Given the description of an element on the screen output the (x, y) to click on. 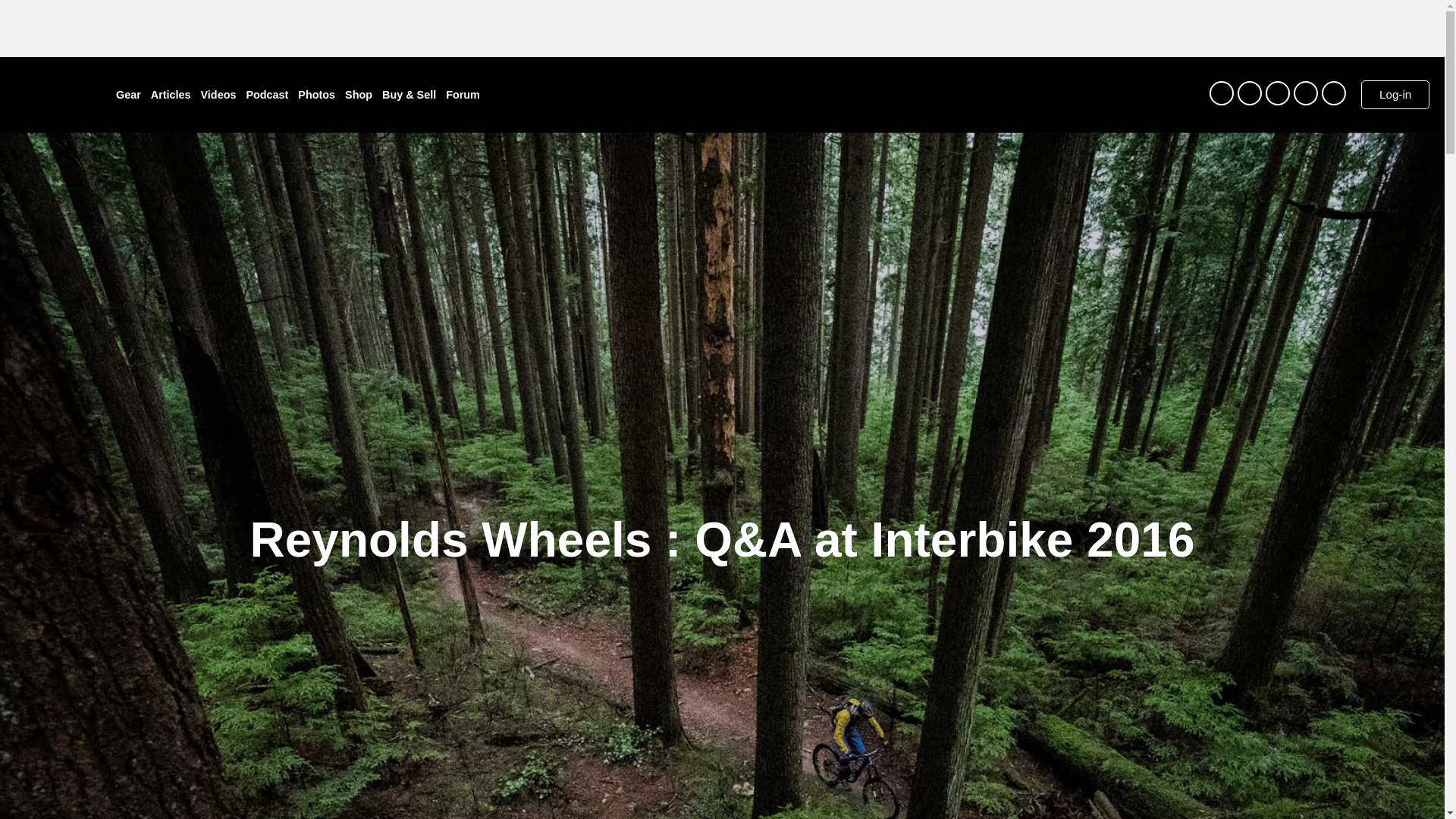
Search Toggle (1197, 94)
Facebook (1277, 93)
Instagram (1221, 93)
Log-in (1395, 94)
Subscribe (1333, 93)
Twitter (1249, 93)
Youtube (1305, 93)
NSMB Home (47, 89)
Gear (128, 94)
